Given the description of an element on the screen output the (x, y) to click on. 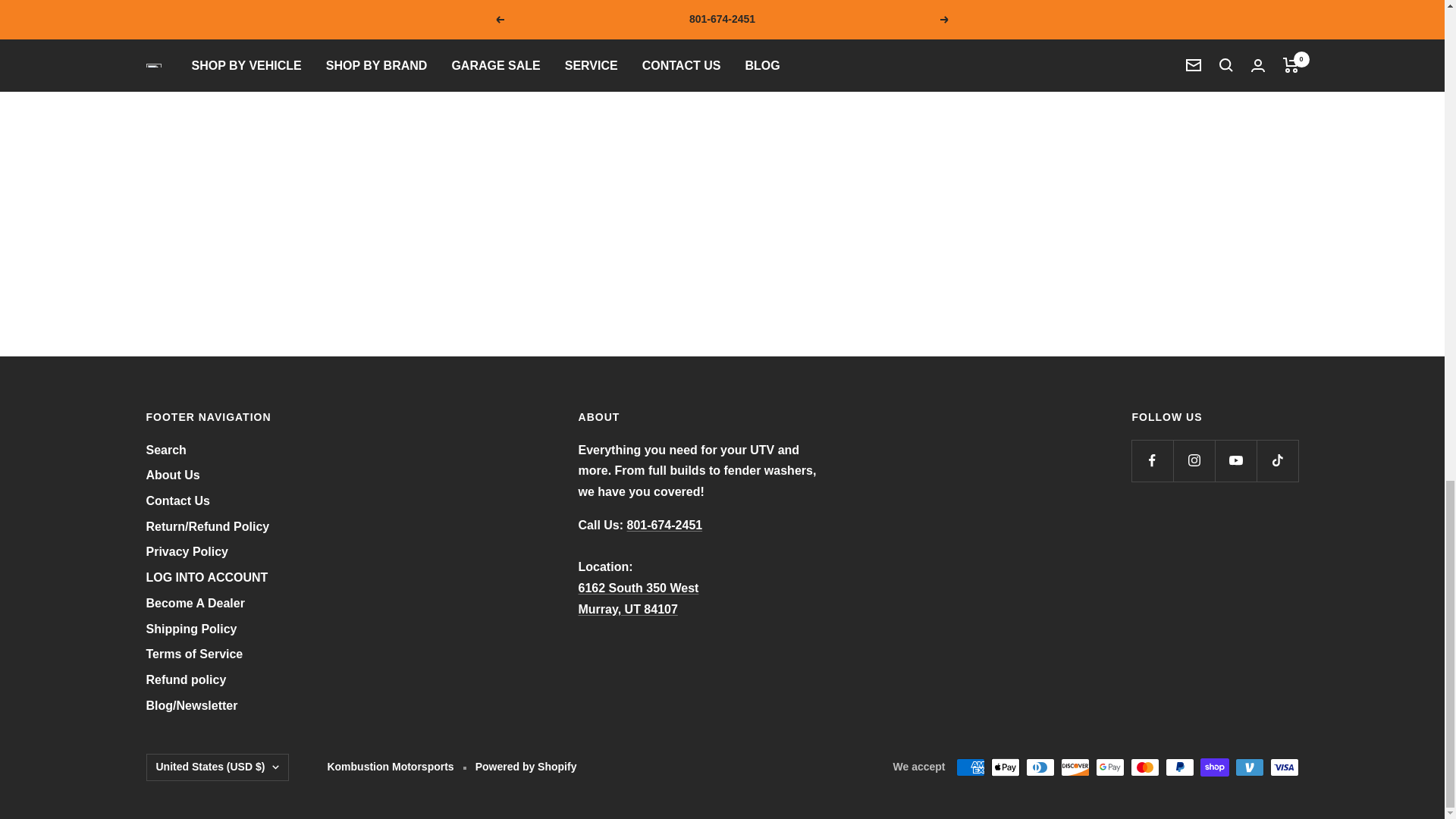
Charge Your Can-Am X3 Batteries Like A Pro! (591, 164)
Kombustion Motorsports Address (638, 598)
tel:8016742451 (665, 524)
